Given the description of an element on the screen output the (x, y) to click on. 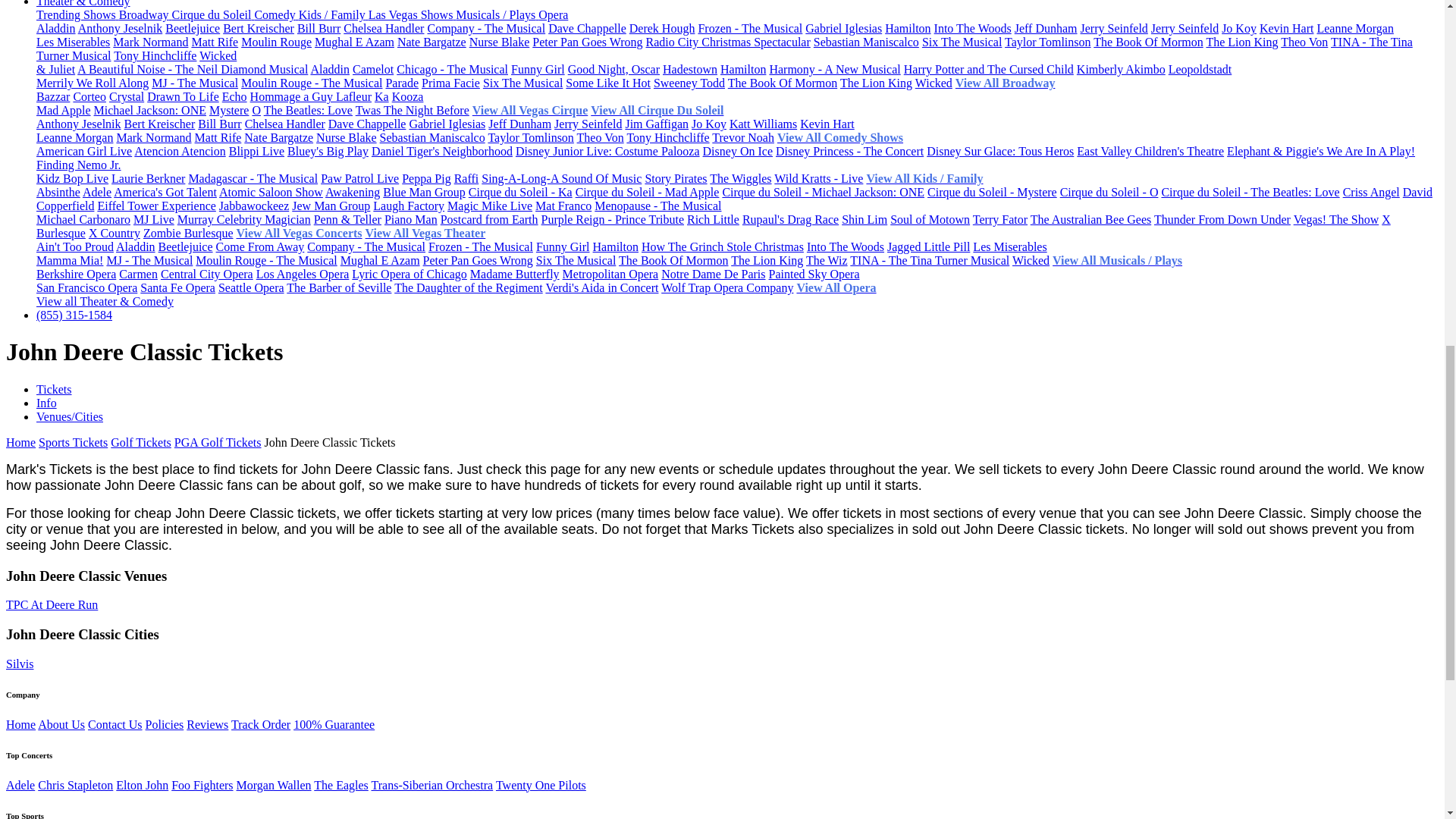
Home (19, 441)
PGA Golf Tickets (218, 441)
Sports Tickets (73, 441)
Golf Tickets (140, 441)
